Given the description of an element on the screen output the (x, y) to click on. 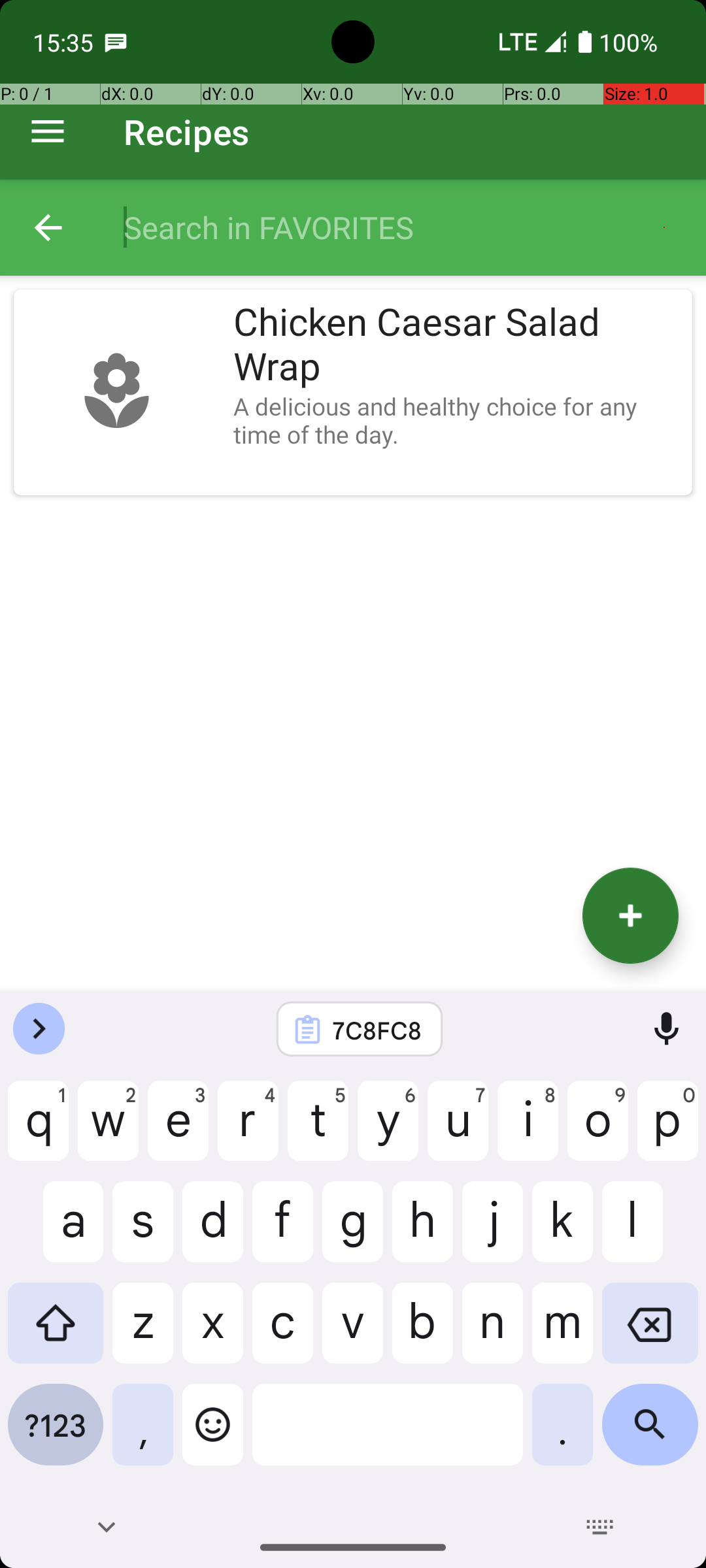
Search in FAVORITES Element type: android.widget.AutoCompleteTextView (400, 227)
7C8FC8 Element type: android.widget.TextView (376, 1029)
